Given the description of an element on the screen output the (x, y) to click on. 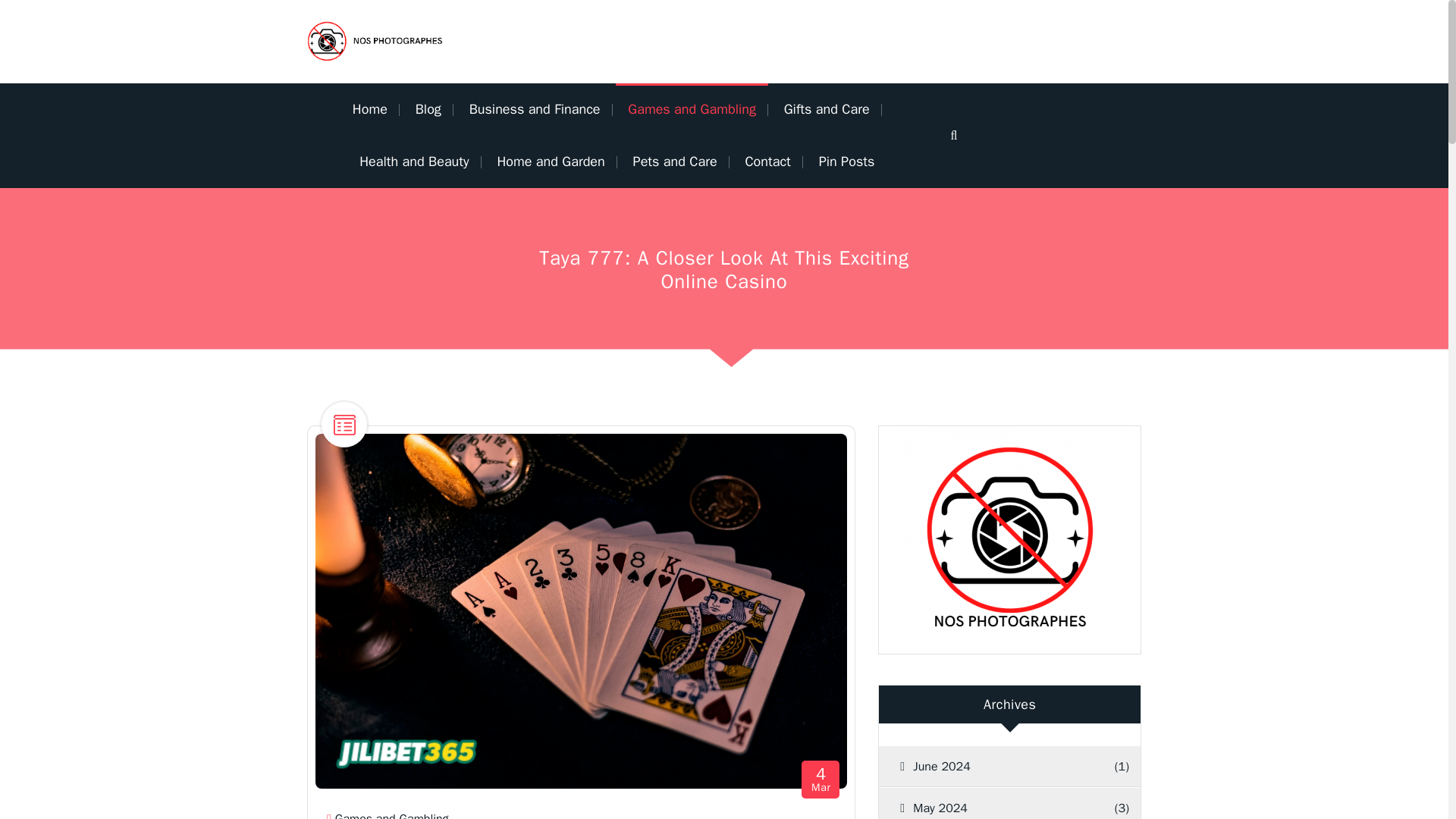
Games and Gambling (691, 109)
Games and Gambling (391, 815)
Gifts and Care (826, 109)
Health and Beauty (820, 779)
Business and Finance (414, 161)
Business and Finance (534, 109)
Home and Garden (534, 109)
Blog (549, 161)
Blog (427, 109)
Contact (427, 109)
Games and Gambling (767, 161)
Home (691, 109)
Pin Posts (375, 109)
Pets and Care (846, 161)
